Given the description of an element on the screen output the (x, y) to click on. 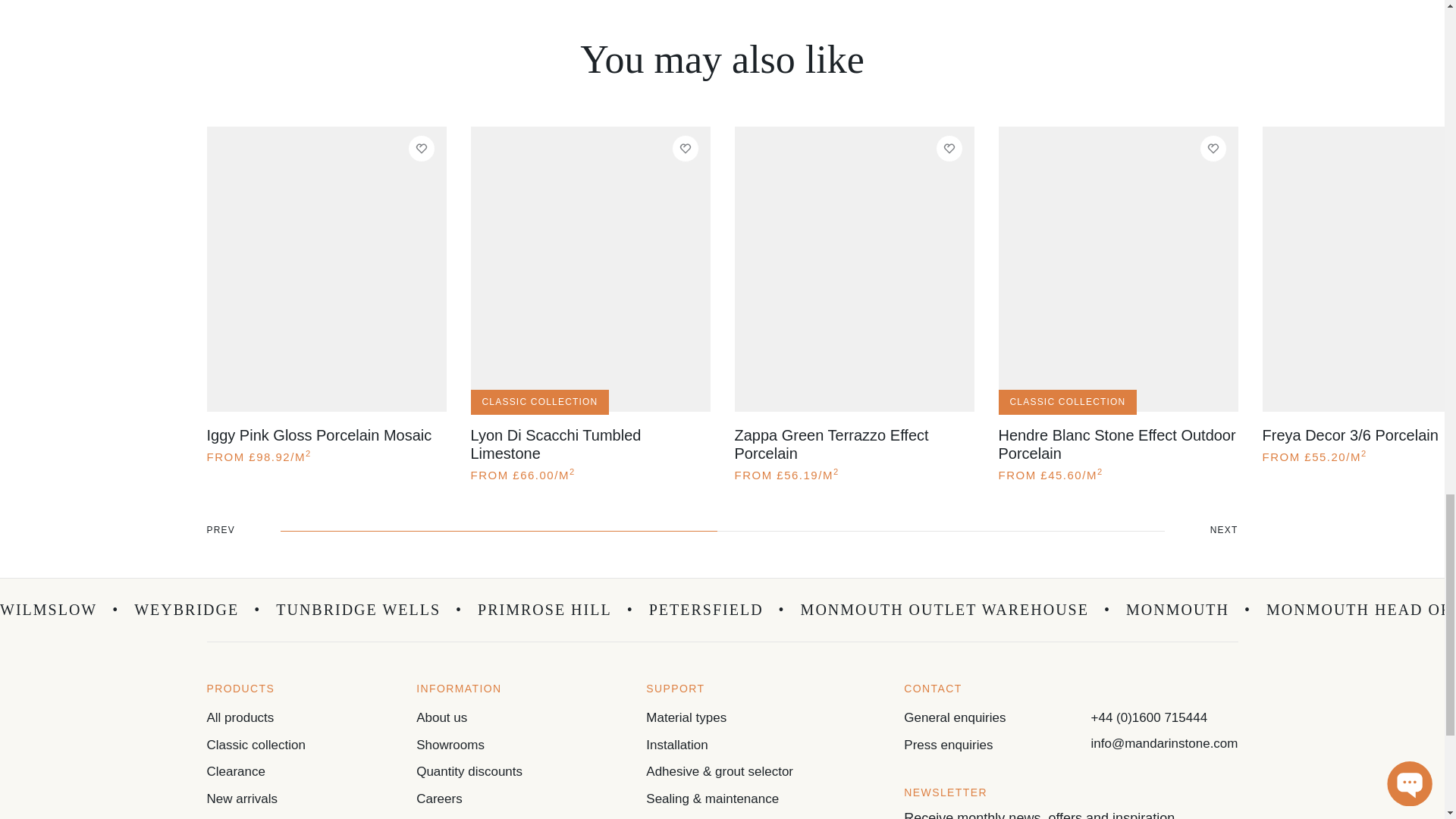
WEYBRIDGE (196, 610)
WILMSLOW (59, 610)
MONMOUTH OUTLET WAREHOUSE (955, 610)
PETERSFIELD (717, 610)
PRIMROSE HILL (555, 610)
MONMOUTH (1187, 610)
TUNBRIDGE WELLS (369, 610)
